Given the description of an element on the screen output the (x, y) to click on. 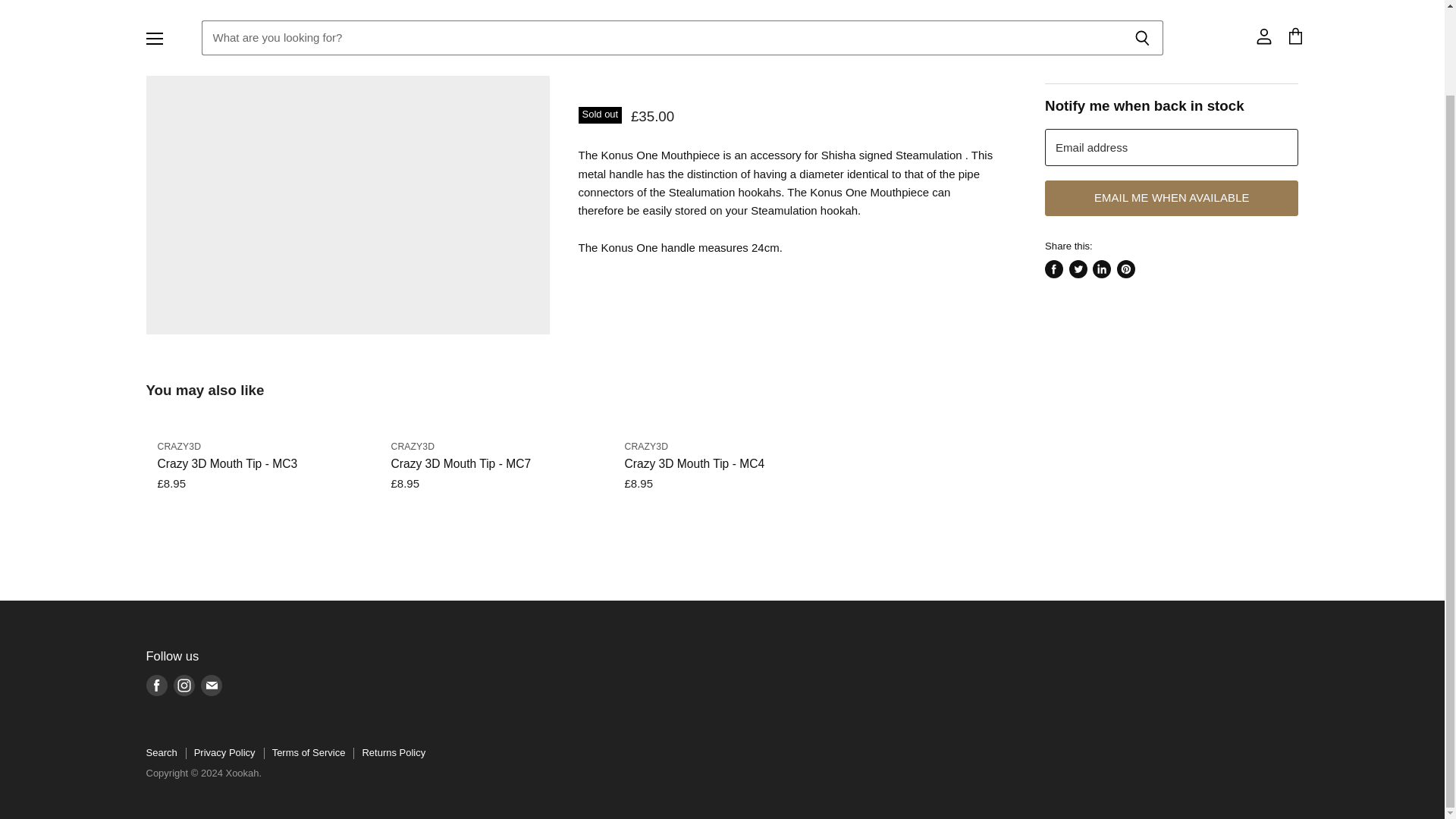
Steamulation (640, 66)
Facebook (156, 685)
Instagram (183, 685)
Home (160, 5)
E-mail (210, 685)
